Given the description of an element on the screen output the (x, y) to click on. 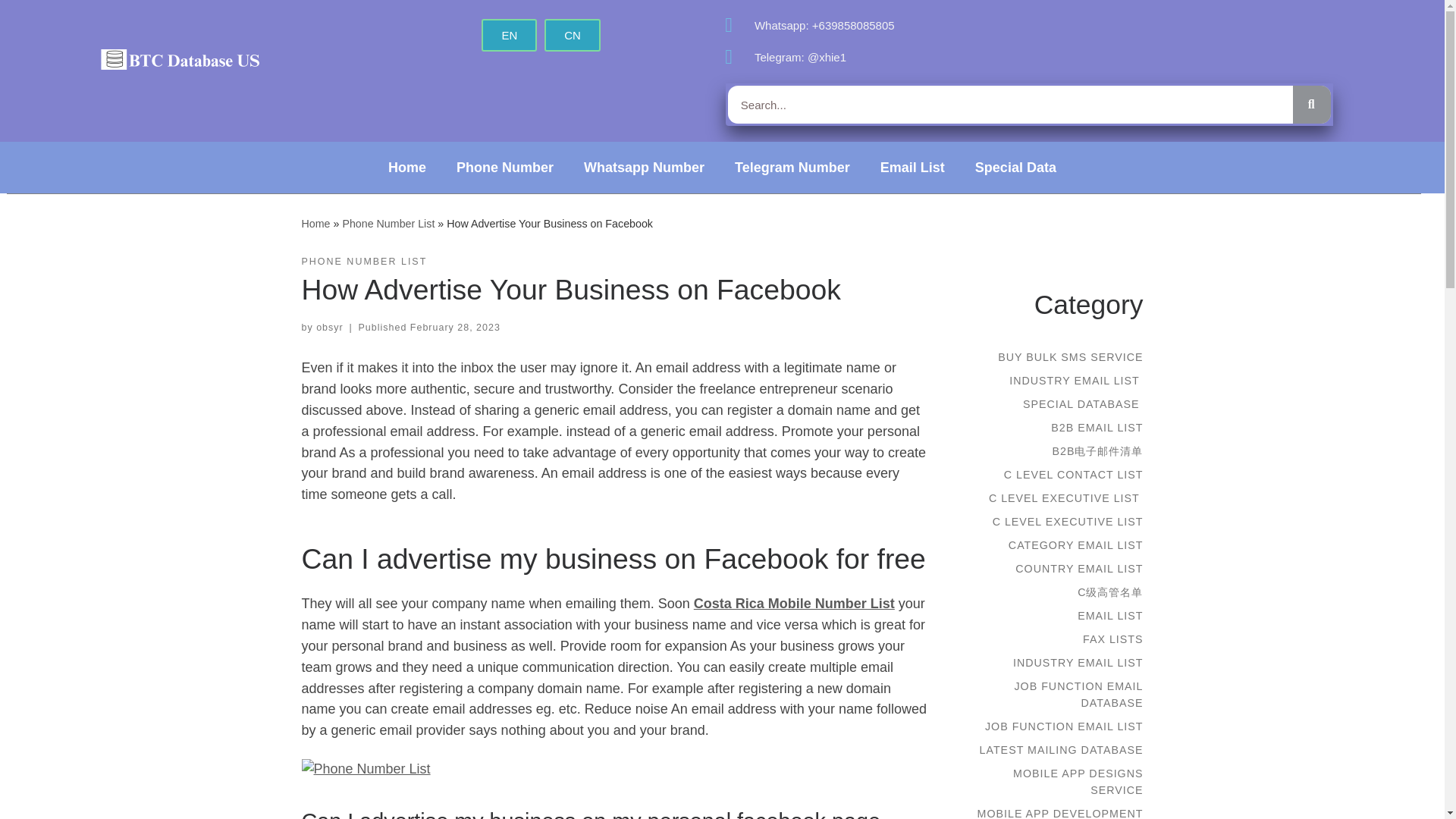
View all posts in Phone Number List (364, 261)
Whatsapp Number (644, 167)
Phone Number (505, 167)
Phone Number List (387, 223)
Special Data (1015, 167)
CN (571, 34)
Costa Rica Mobile Number List (794, 603)
Home (315, 223)
BTC Database US (315, 223)
obsyr (329, 327)
